Given the description of an element on the screen output the (x, y) to click on. 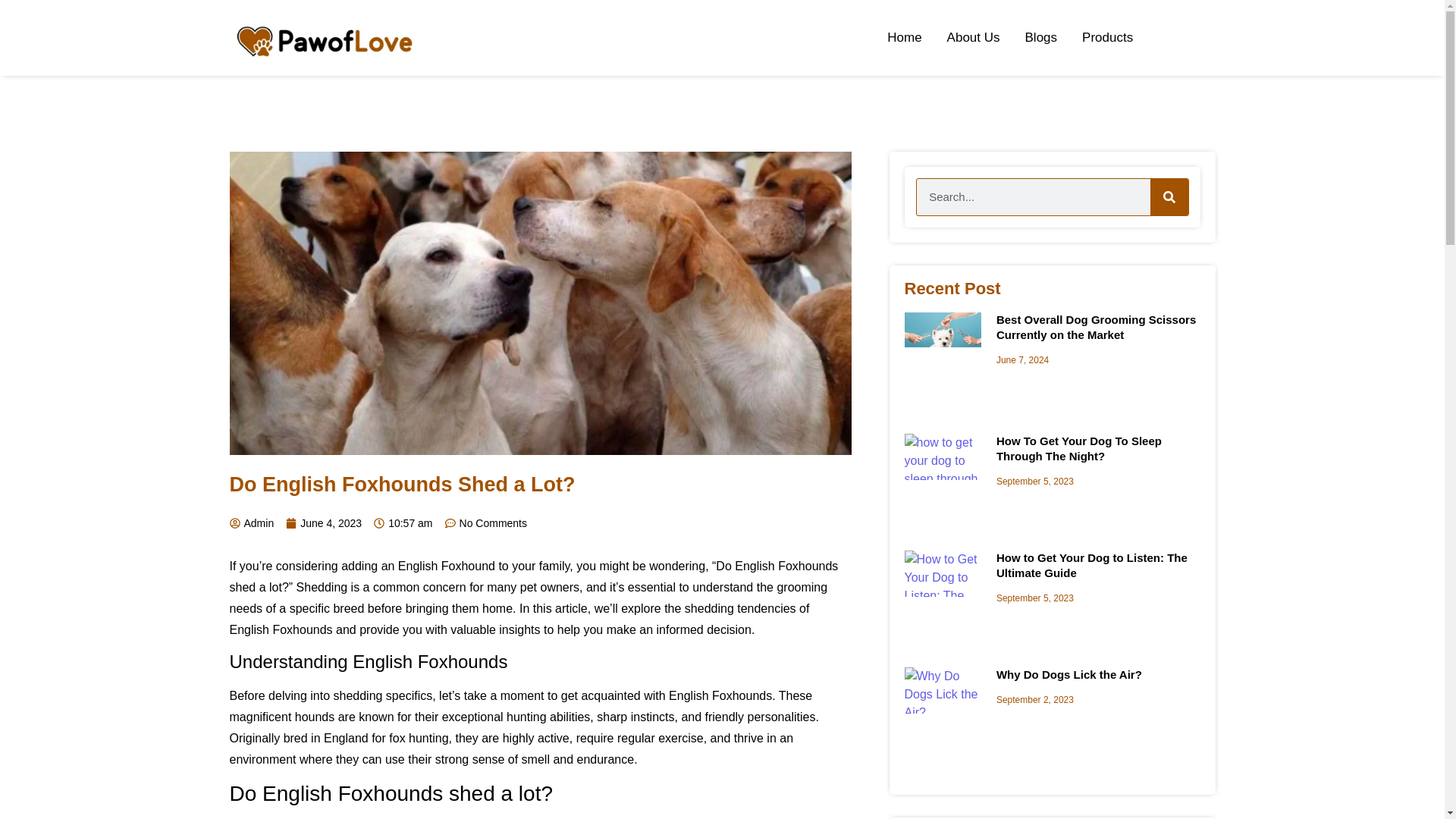
image - PAW OF LOVE (941, 337)
Paw of love - Full logo - PAW OF LOVE (326, 37)
Products (1106, 37)
Home (903, 37)
Why Do Dogs Lick the Air? - PAW OF LOVE (941, 690)
Admin (250, 523)
About Us (973, 37)
how to get your dog to sleep through the night - PAW OF LOVE (941, 456)
